Given the description of an element on the screen output the (x, y) to click on. 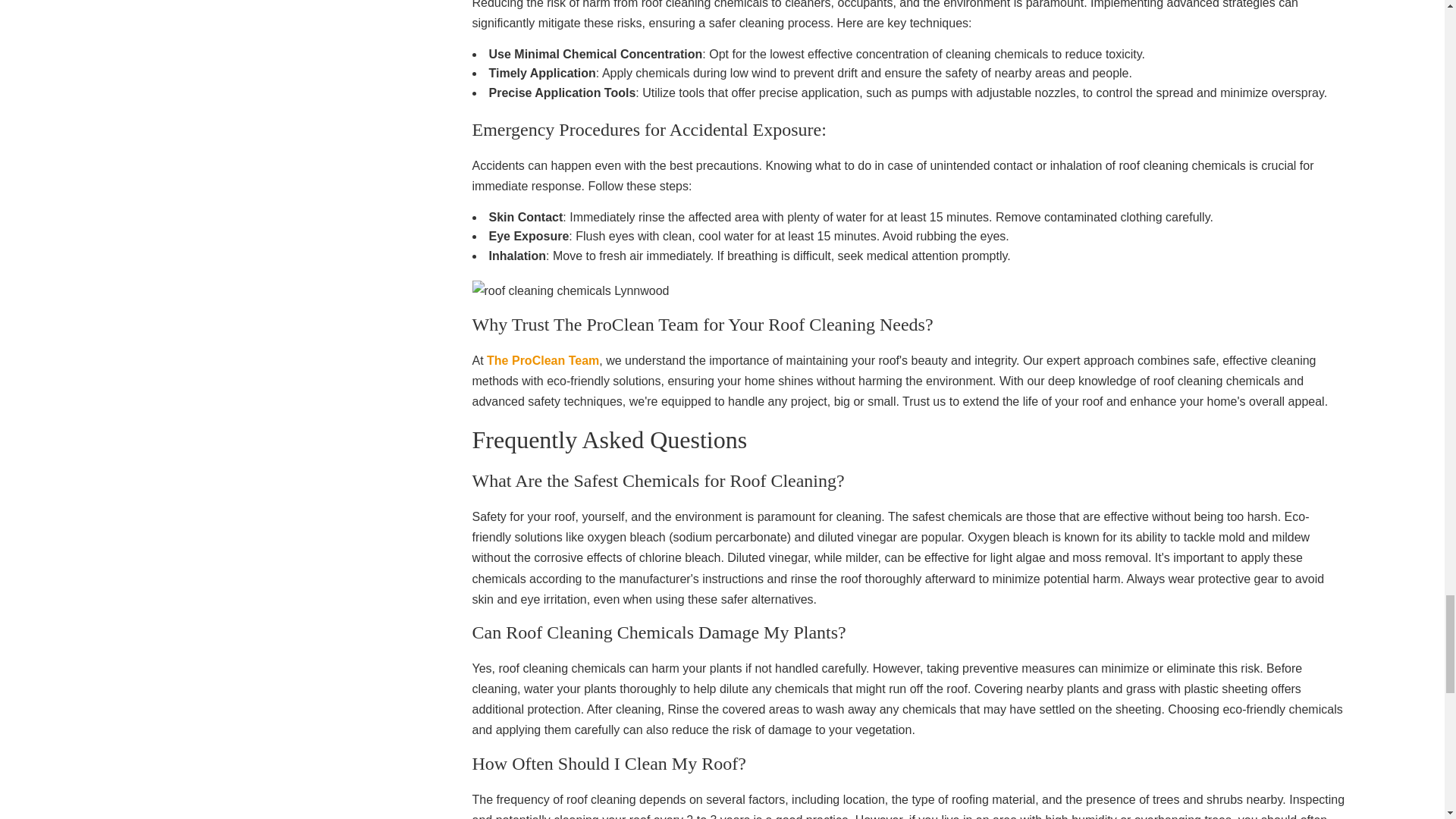
The ProClean Team (542, 359)
